Given the description of an element on the screen output the (x, y) to click on. 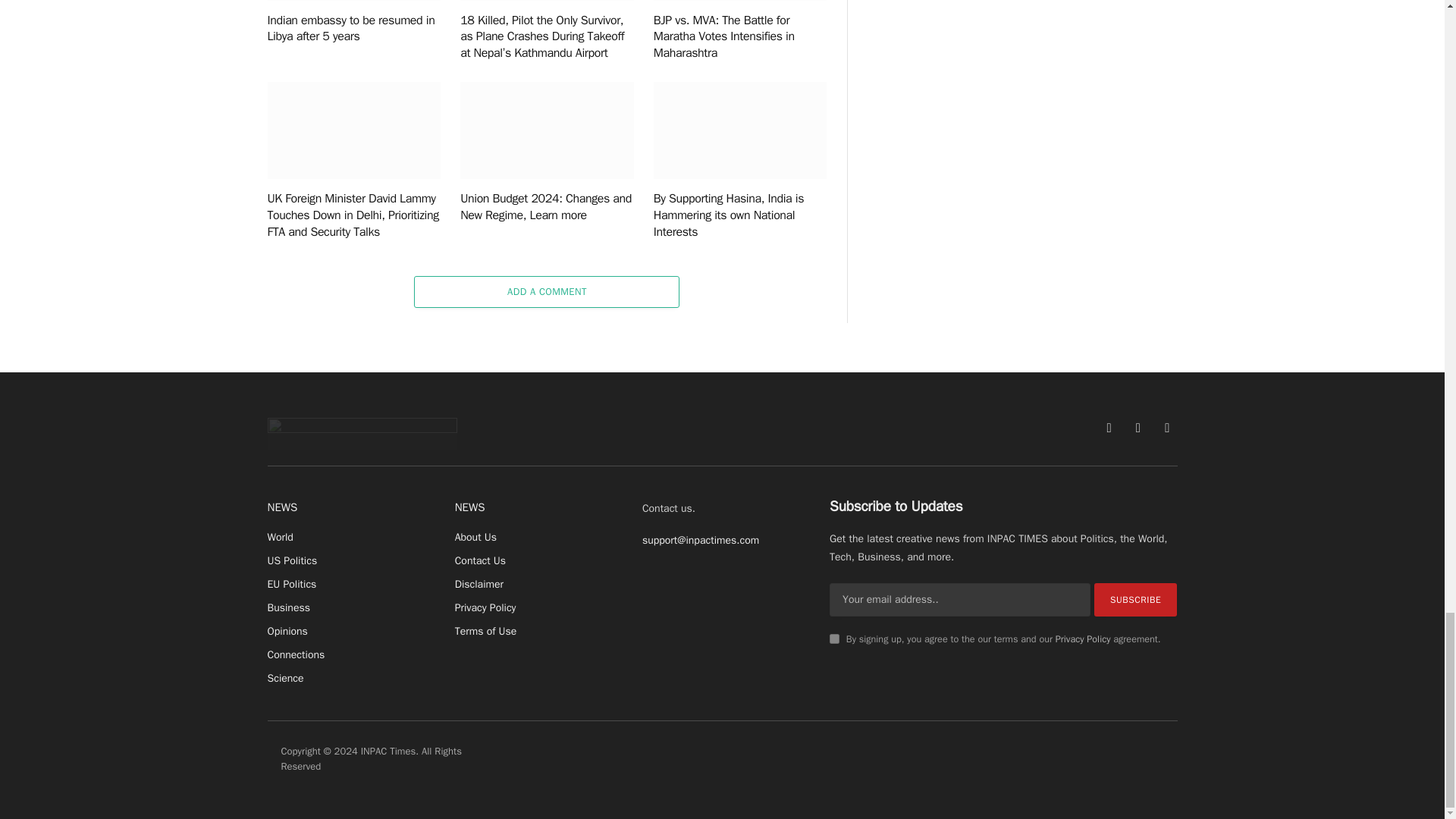
on (834, 638)
Subscribe (1135, 599)
